Given the description of an element on the screen output the (x, y) to click on. 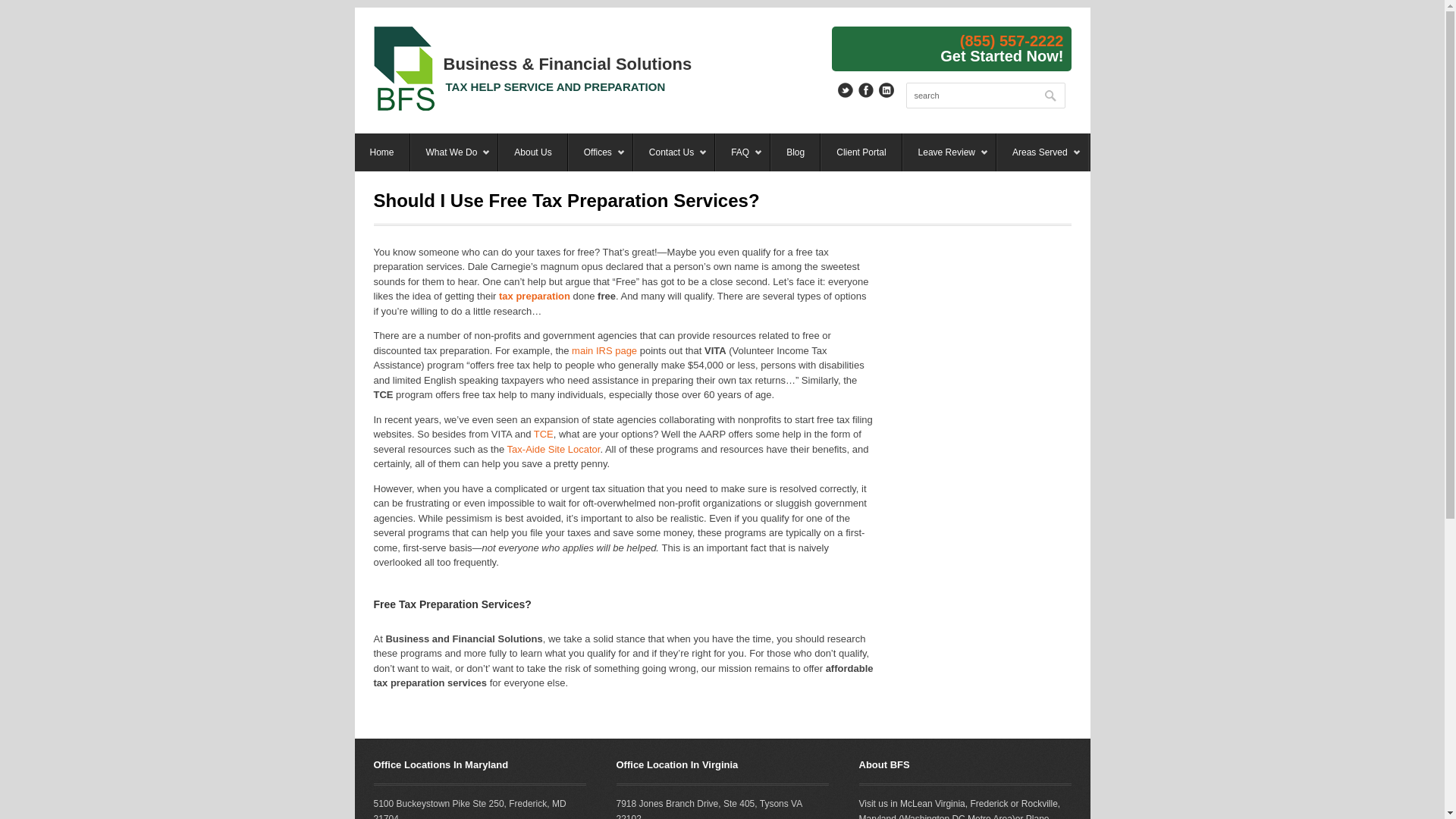
search (984, 95)
facebook (866, 89)
About Us (532, 152)
Home (382, 152)
linkedin (885, 89)
tax preparation (534, 296)
Get Started Now! (1001, 54)
twitter (844, 89)
